Given the description of an element on the screen output the (x, y) to click on. 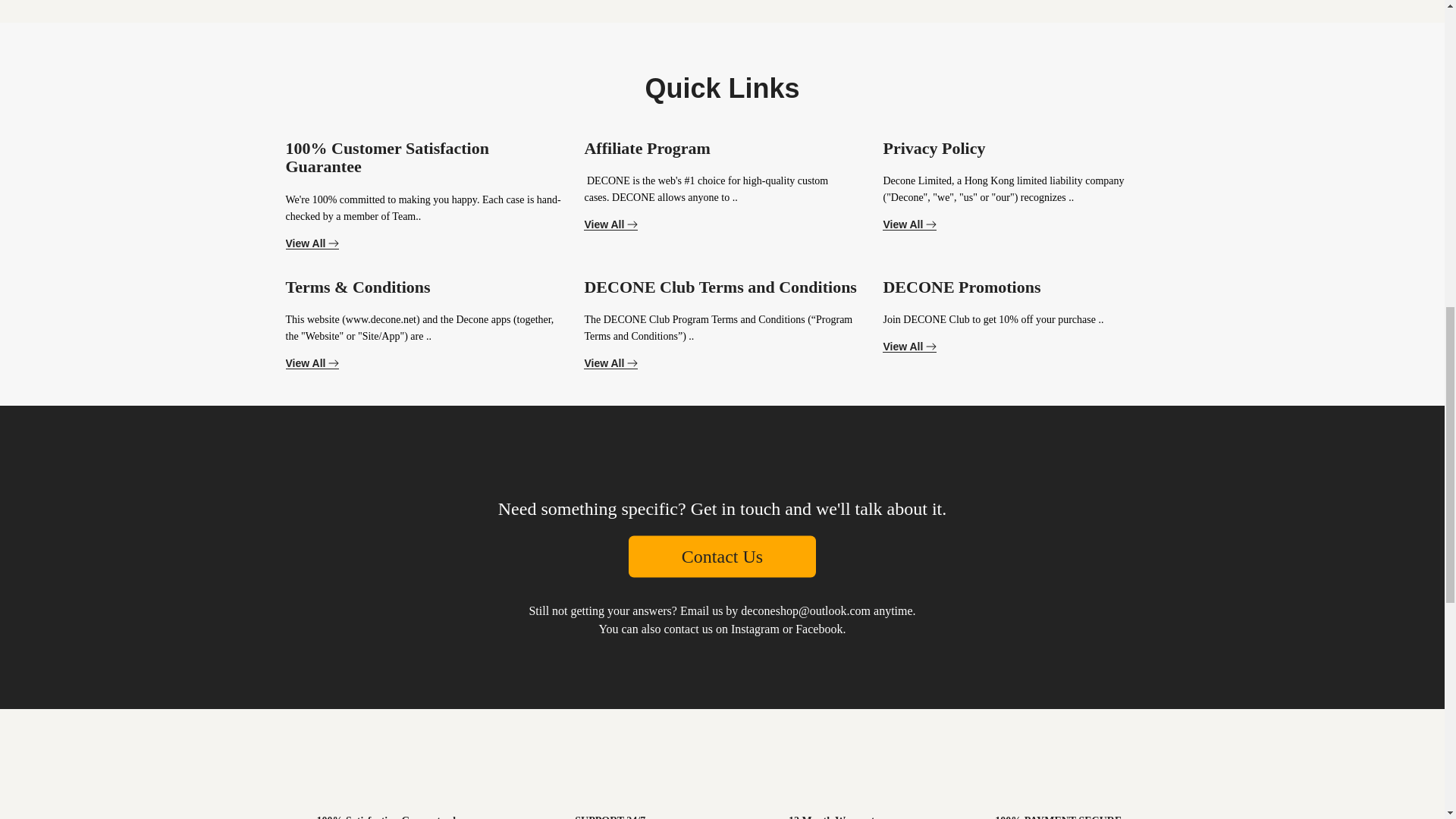
View All (909, 224)
DECONE Club Terms and Conditions (719, 286)
View All (909, 346)
Privacy Policy (933, 148)
DECONE Promotions (961, 286)
Contact Us (721, 556)
View All (312, 243)
Affiliate Program (646, 148)
View All (610, 363)
View All (610, 224)
